Given the description of an element on the screen output the (x, y) to click on. 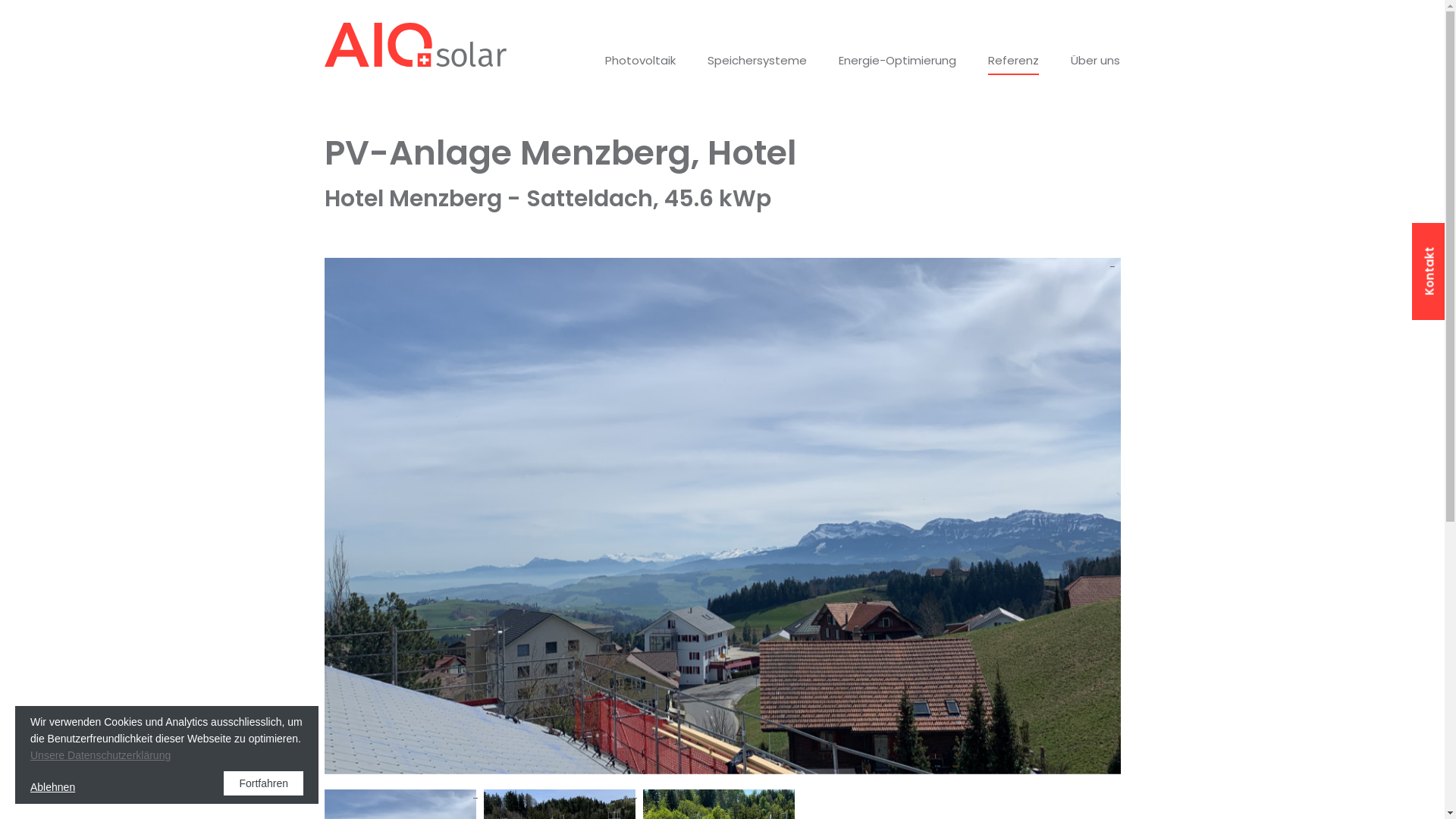
AIO-Solar GmbH Element type: hover (415, 44)
Energie-Optimierung Element type: text (897, 59)
Photovoltaik Element type: text (640, 59)
Referenz Element type: text (1012, 62)
Speichersysteme Element type: text (756, 59)
